Given the description of an element on the screen output the (x, y) to click on. 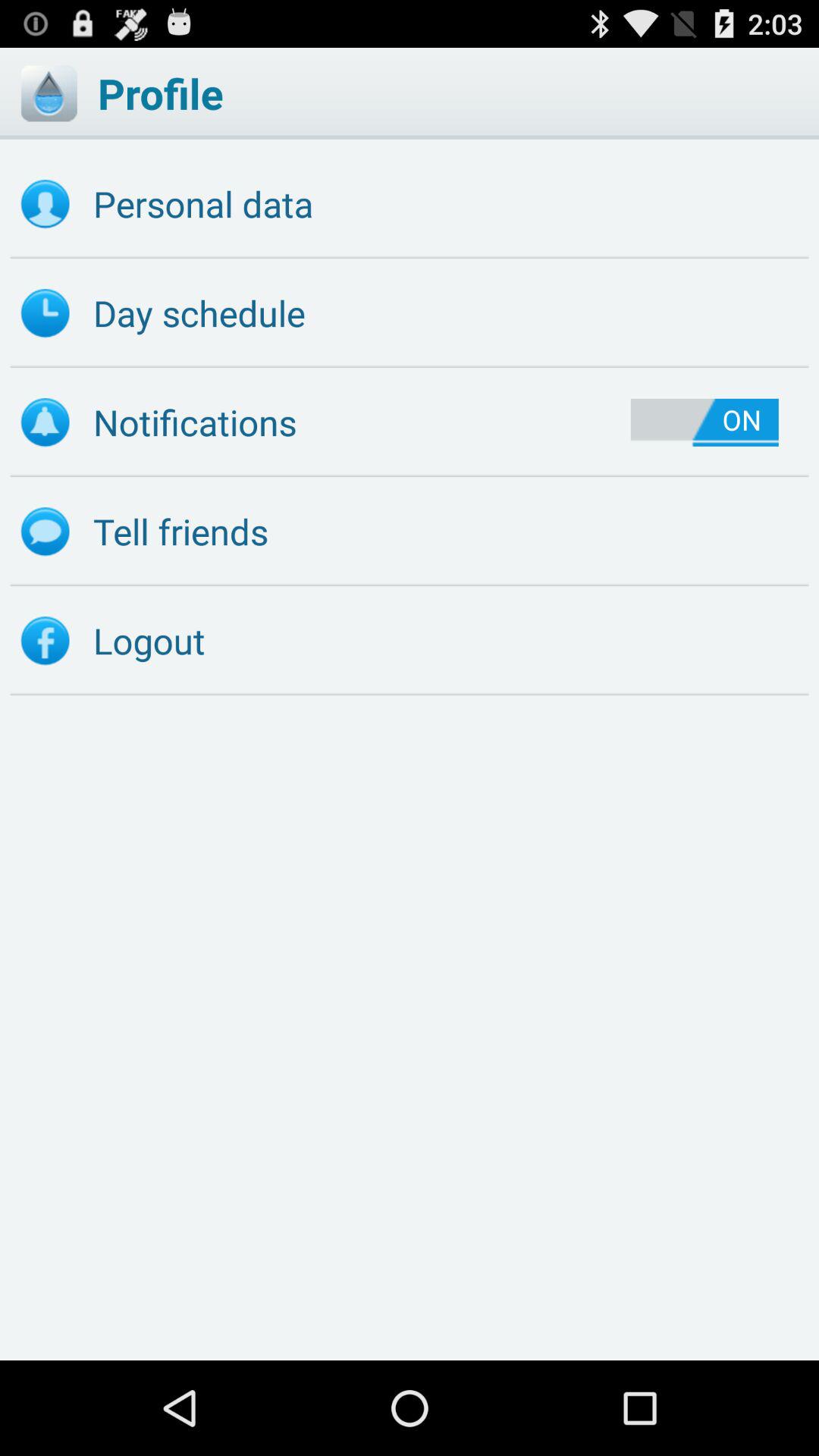
swipe until on item (704, 422)
